Given the description of an element on the screen output the (x, y) to click on. 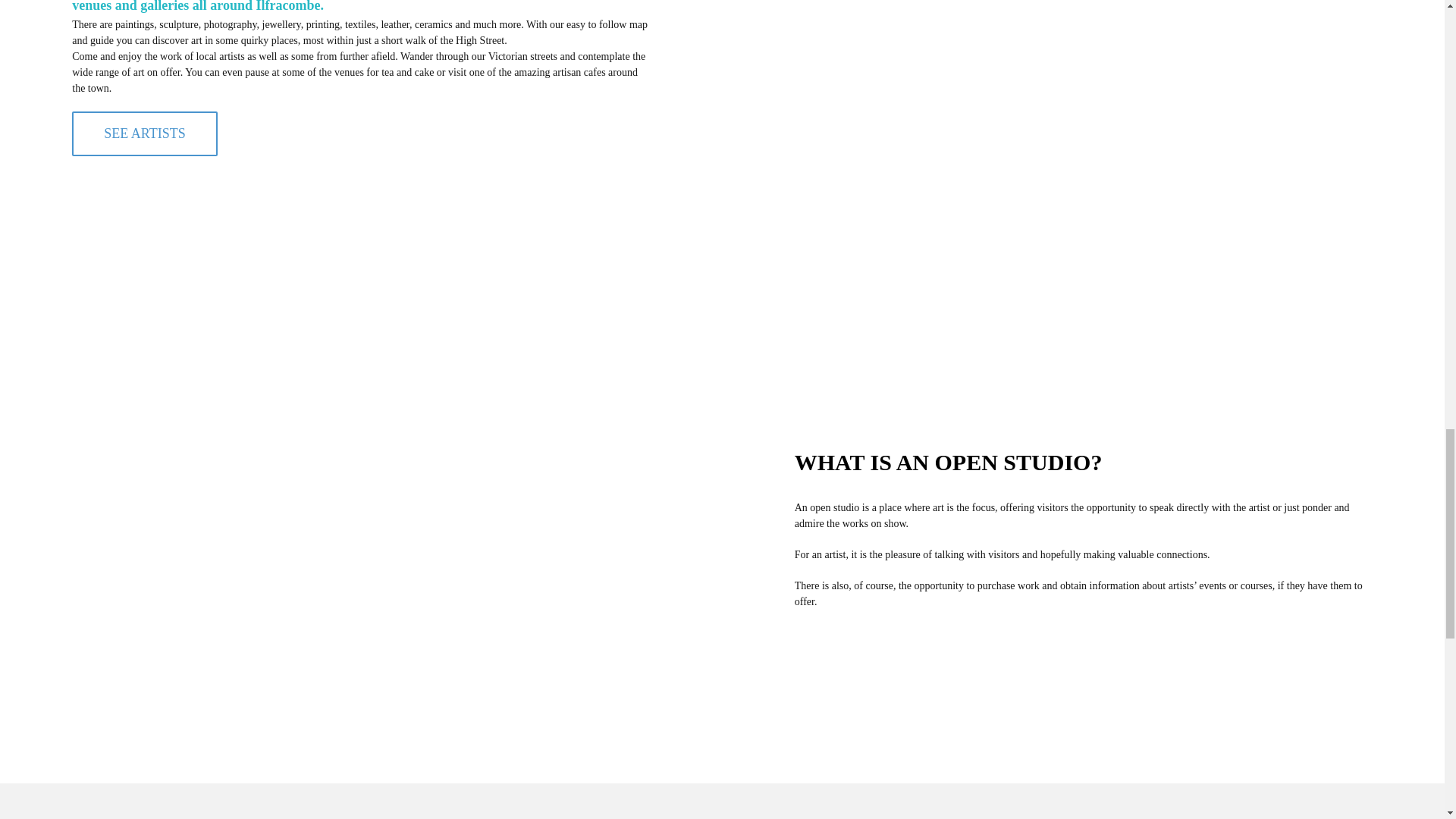
SEE ARTISTS (143, 133)
